Given the description of an element on the screen output the (x, y) to click on. 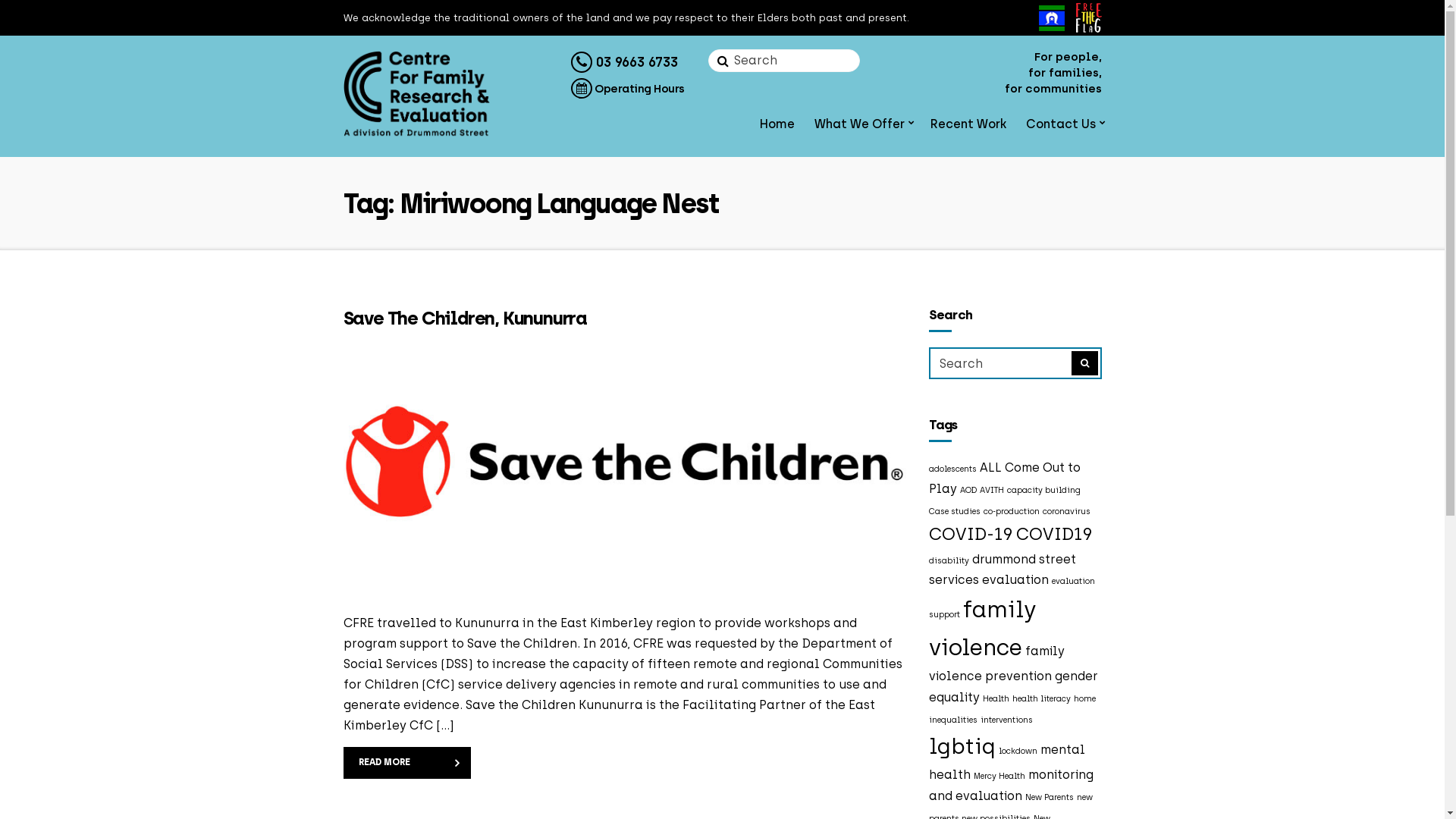
Health Element type: text (995, 698)
SEARCH Element type: text (720, 60)
inequalities Element type: text (952, 719)
SEARCH Element type: text (1083, 363)
adolescents Element type: text (952, 468)
READ MORE Element type: text (406, 762)
family violence prevention Element type: text (996, 663)
capacity building Element type: text (1043, 490)
family violence Element type: text (981, 628)
health literacy Element type: text (1041, 698)
COVID-19 Element type: text (970, 534)
interventions Element type: text (1006, 719)
evaluation Element type: text (1015, 579)
Contact Us Element type: text (1063, 125)
AOD Element type: text (968, 490)
Home Element type: text (776, 125)
ALL Come Out to Play Element type: text (1004, 477)
What We Offer Element type: text (862, 125)
mental health Element type: text (1006, 761)
Recent Work Element type: text (967, 125)
drummond street services Element type: text (1002, 569)
New Parents Element type: text (1049, 797)
evaluation support Element type: text (1011, 597)
home Element type: text (1084, 698)
co-production Element type: text (1011, 511)
disability Element type: text (948, 560)
coronavirus Element type: text (1066, 511)
gender equality Element type: text (1013, 686)
Mercy Health Element type: text (999, 776)
lgbtiq Element type: text (961, 746)
lockdown Element type: text (1017, 751)
AVITH Element type: text (991, 490)
COVID19 Element type: text (1054, 534)
03 9663 6733 Element type: text (623, 62)
Save The Children, Kununurra Element type: text (464, 318)
Case studies Element type: text (954, 511)
monitoring and evaluation Element type: text (1010, 785)
Operating Hours Element type: text (627, 88)
